Given the description of an element on the screen output the (x, y) to click on. 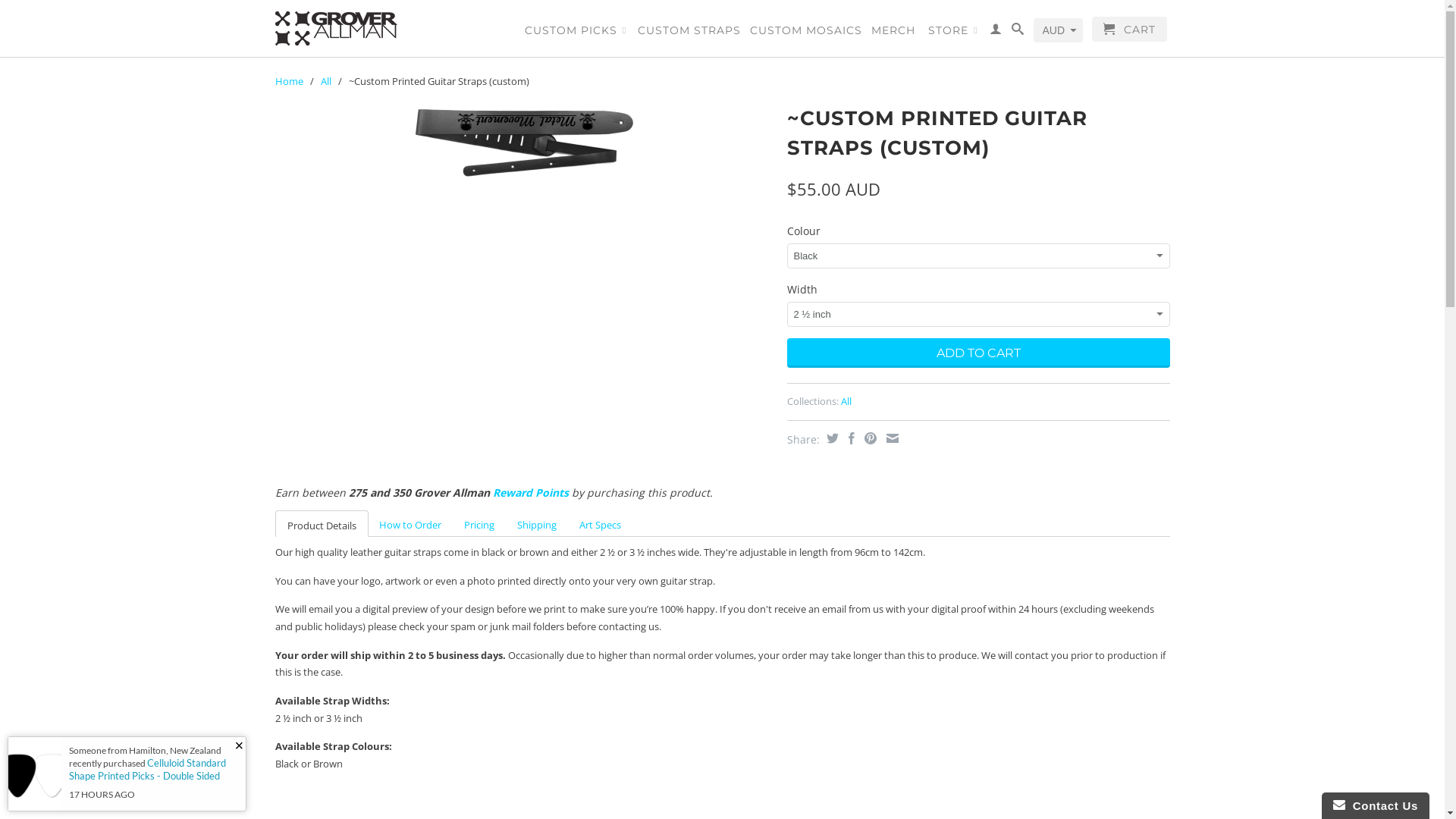
Shipping Element type: text (536, 524)
My Account  Element type: hover (994, 31)
MERCH Element type: text (893, 33)
Email this to a friend Element type: hover (890, 438)
CUSTOM MOSAICS Element type: text (805, 33)
Pricing Element type: text (478, 524)
Art Specs Element type: text (599, 524)
Share this on Twitter Element type: hover (829, 438)
How to Order Element type: text (409, 524)
Add to Cart Element type: text (978, 352)
Product Details Element type: text (320, 523)
All Element type: text (325, 80)
All Element type: text (845, 400)
CUSTOM STRAPS Element type: text (688, 33)
Share this on Pinterest Element type: hover (867, 438)
Share this on Facebook Element type: hover (849, 438)
Grover Allman Element type: hover (380, 28)
Reward Points Element type: text (530, 492)
CART Element type: text (1129, 28)
Search Element type: hover (1017, 31)
~Custom Printed Guitar Straps (custom) Element type: hover (522, 142)
Home Element type: text (288, 80)
